Given the description of an element on the screen output the (x, y) to click on. 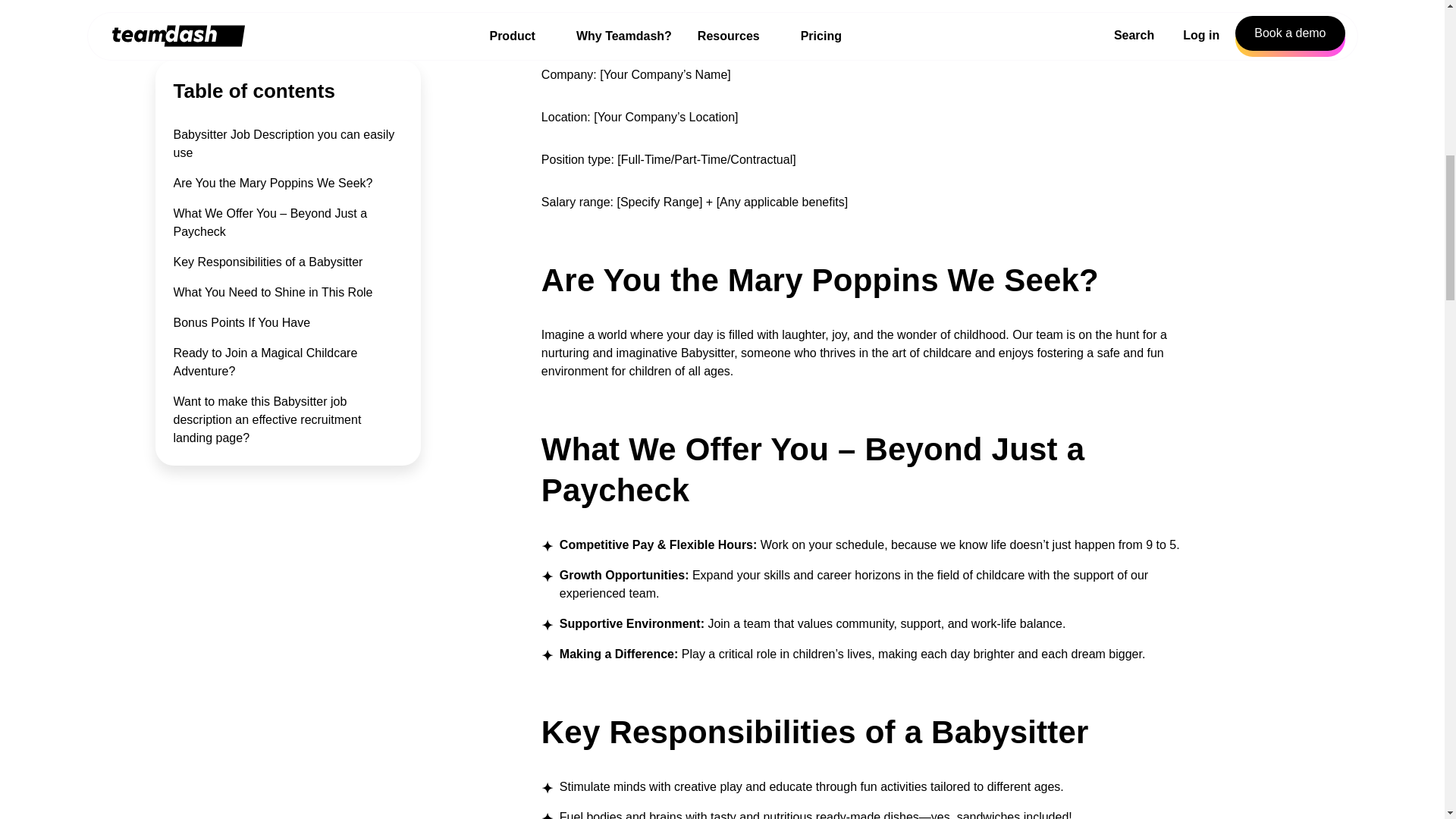
Ready to Join a Magical Childcare Adventure? (264, 260)
Are You the Mary Poppins We Seek? (272, 81)
What You Need to Shine in This Role (272, 190)
Key Responsibilities of a Babysitter (267, 160)
Bonus Points If You Have (241, 220)
Babysitter Job Description you can easily use (283, 41)
